Given the description of an element on the screen output the (x, y) to click on. 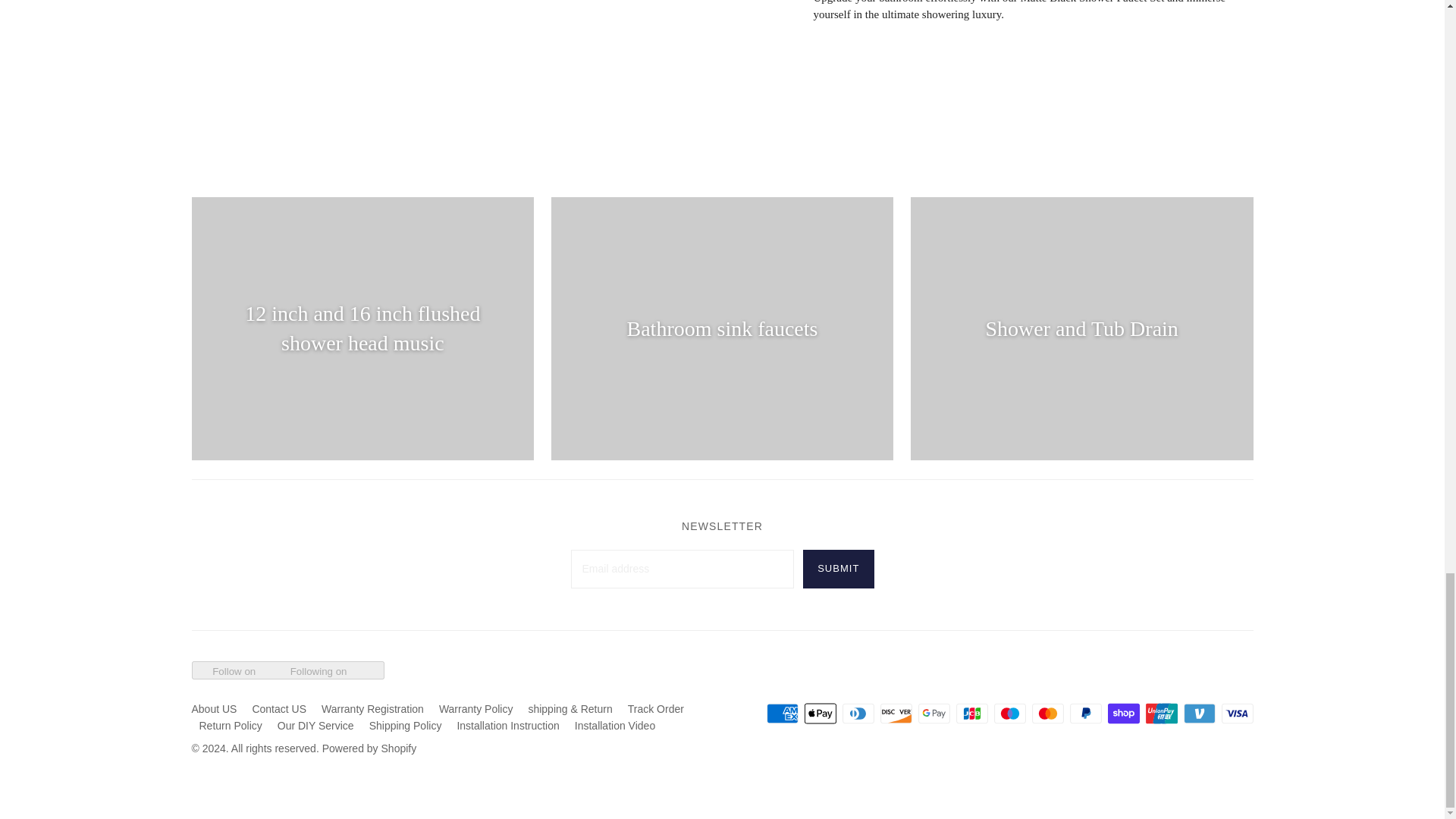
Shop Pay (1122, 713)
Discover (895, 713)
Visa (1236, 713)
PayPal (1084, 713)
Mastercard (1046, 713)
JCB (971, 713)
American Express (781, 713)
Google Pay (933, 713)
Maestro (1008, 713)
Venmo (1198, 713)
